Given the description of an element on the screen output the (x, y) to click on. 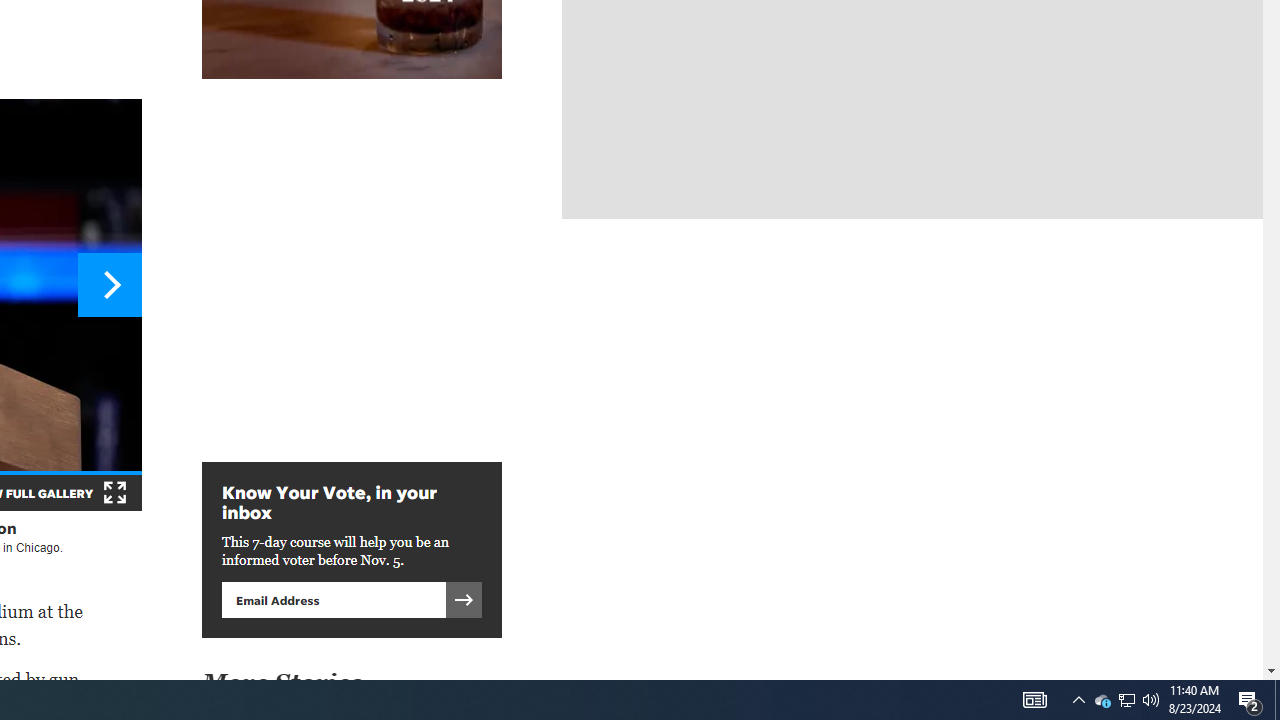
Submit to sign up for newsletter (463, 599)
Email address (333, 599)
